Given the description of an element on the screen output the (x, y) to click on. 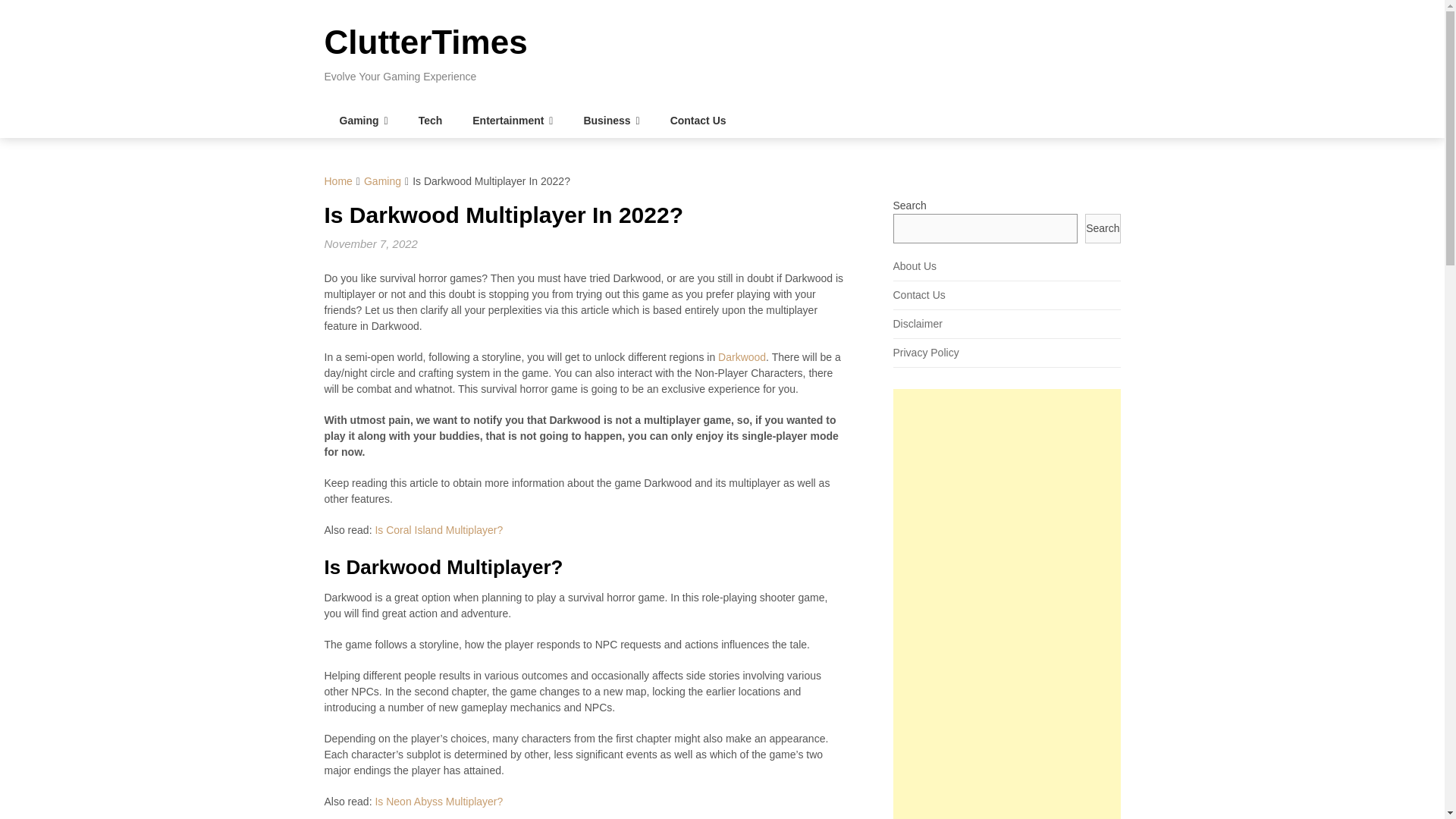
Privacy Policy (926, 352)
Contact Us (918, 295)
ClutterTimes (425, 41)
Search (1101, 228)
Business (610, 121)
Tech (430, 121)
About Us (915, 265)
Gaming (382, 181)
Contact Us (698, 121)
Is Neon Abyss Multiplayer? (438, 801)
